Given the description of an element on the screen output the (x, y) to click on. 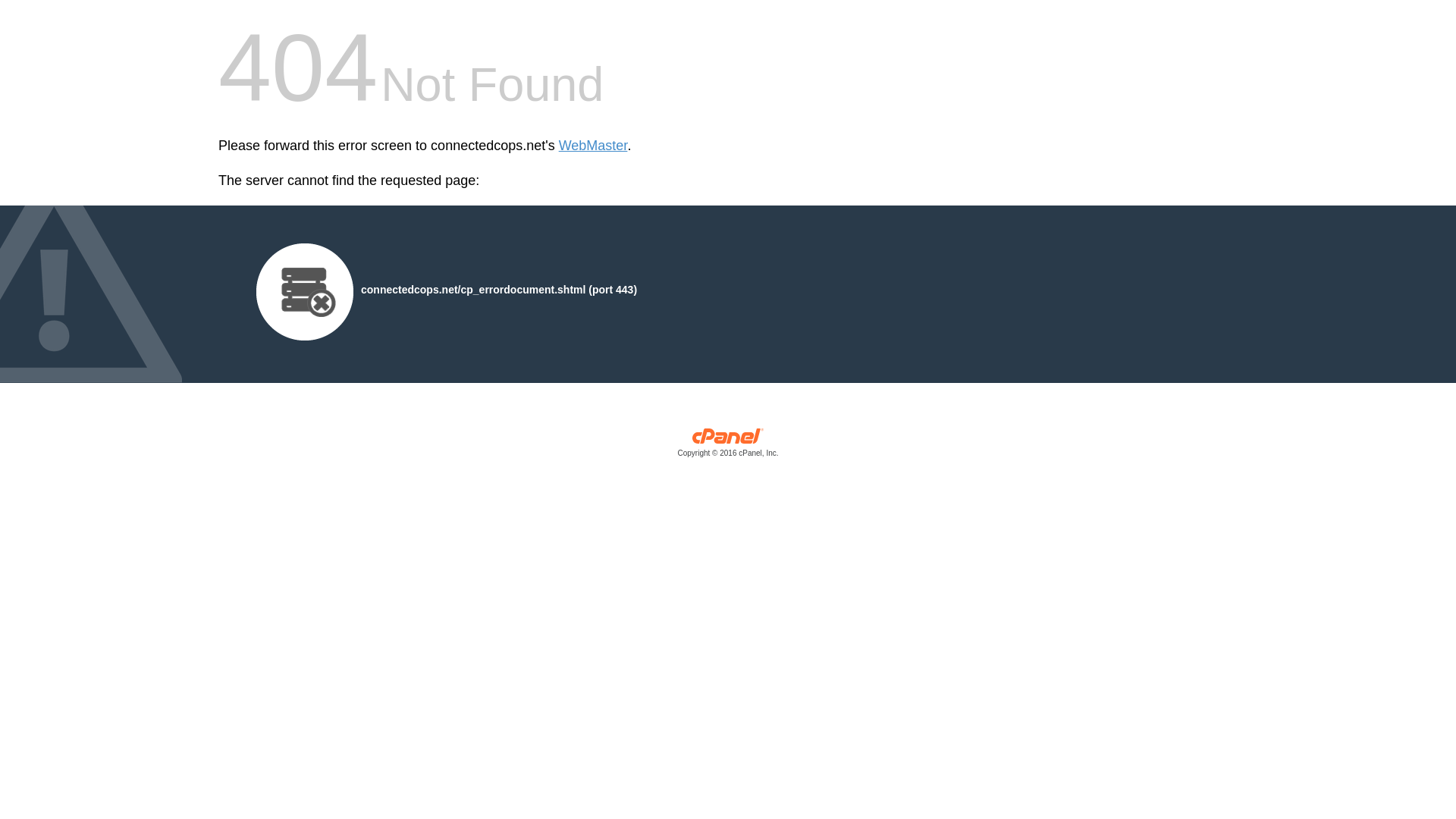
WebMaster (593, 145)
cPanel, Inc. (727, 446)
